Given the description of an element on the screen output the (x, y) to click on. 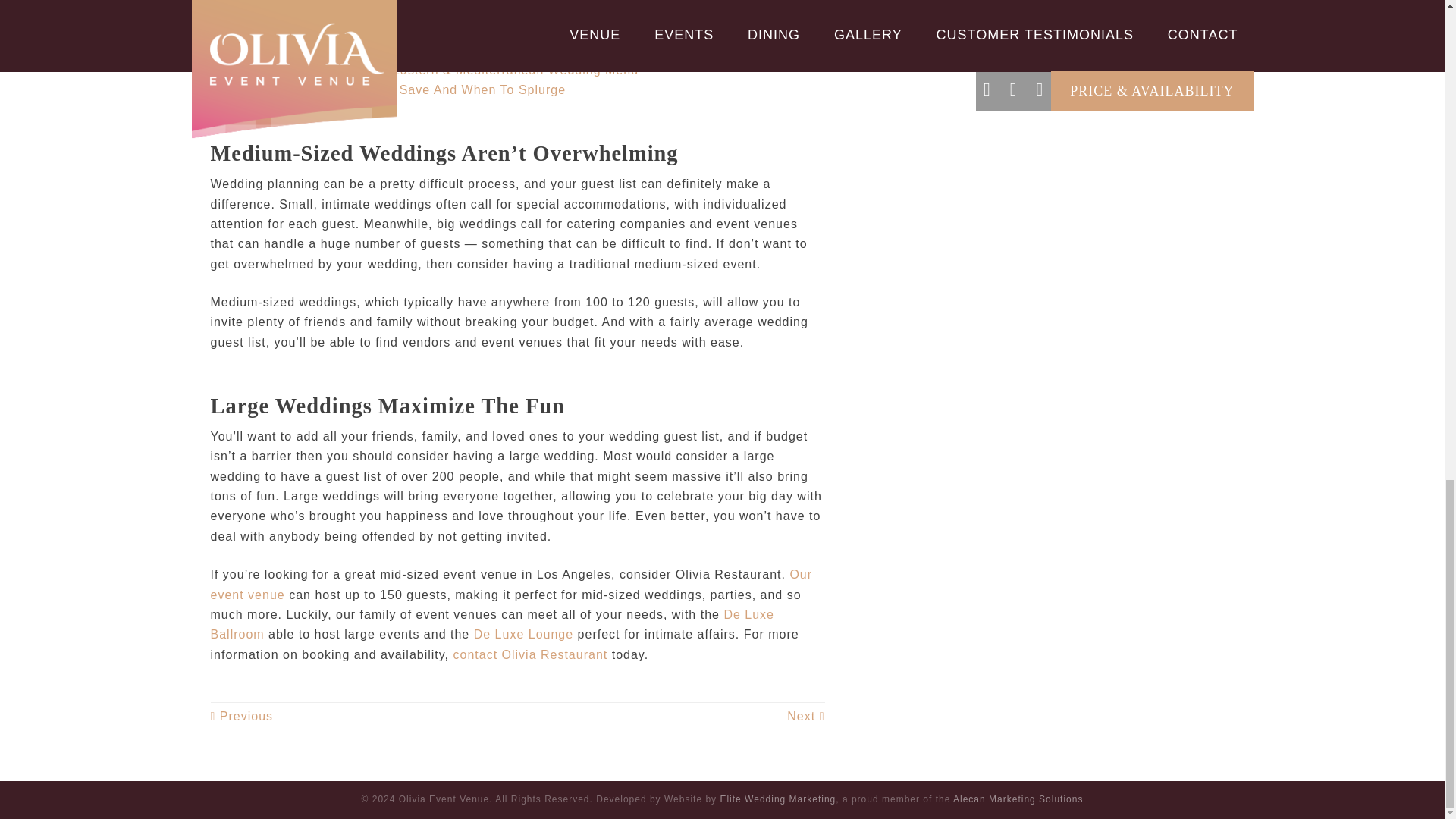
7 Wedding Planning Mistakes That Couples Make (242, 716)
De Luxe Lounge (392, 49)
Our event venue (523, 634)
De Luxe Ballroom (511, 584)
Alecan Marketing Solutions (492, 624)
contact Olivia Restaurant (1018, 798)
Elite Wedding Marketing (529, 654)
Wedding Decor: When To Save And When To Splurge (777, 798)
